Given the description of an element on the screen output the (x, y) to click on. 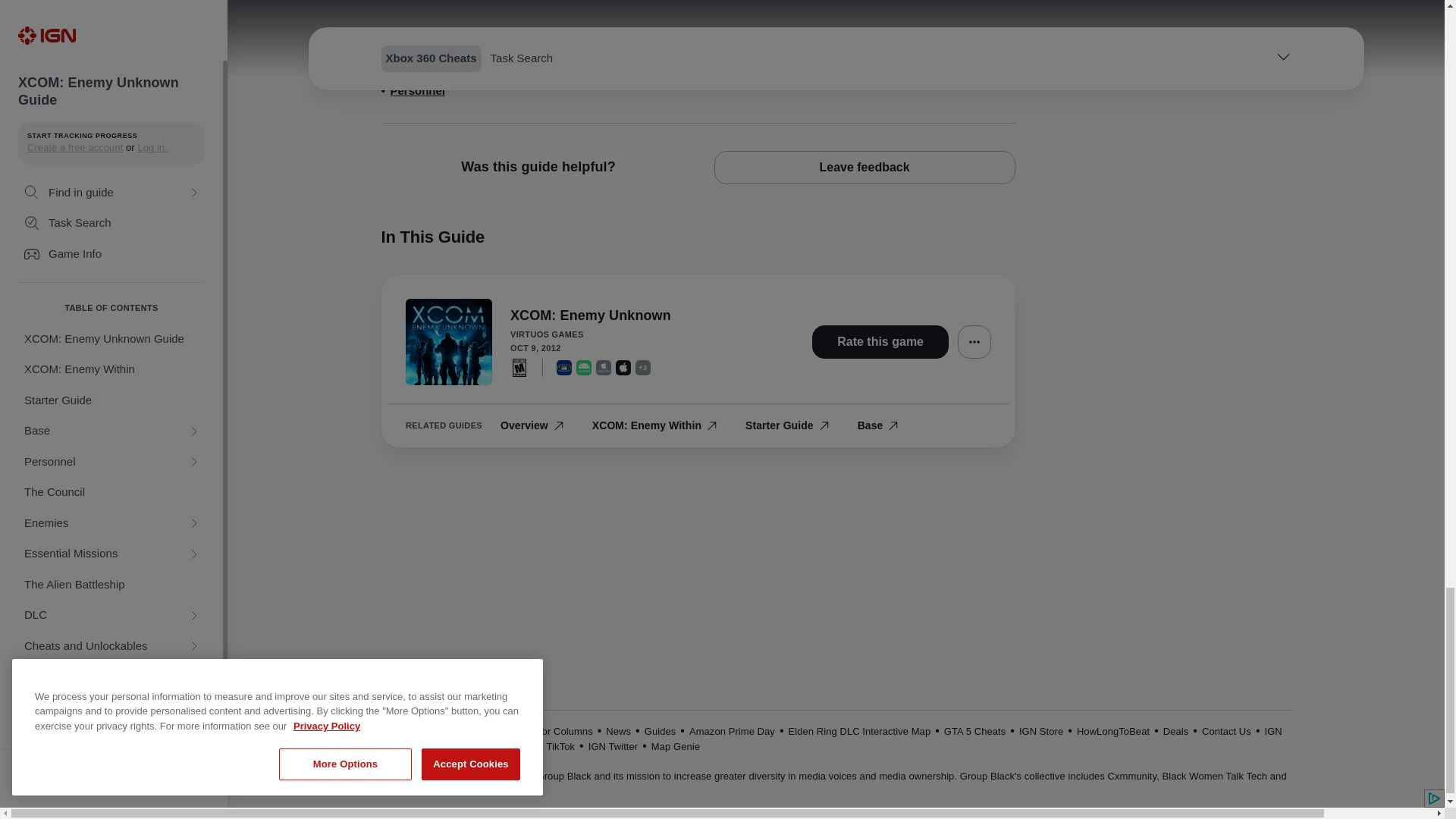
ESRB: Mature (518, 367)
PlayStation Vita (564, 367)
Android (583, 367)
